Given the description of an element on the screen output the (x, y) to click on. 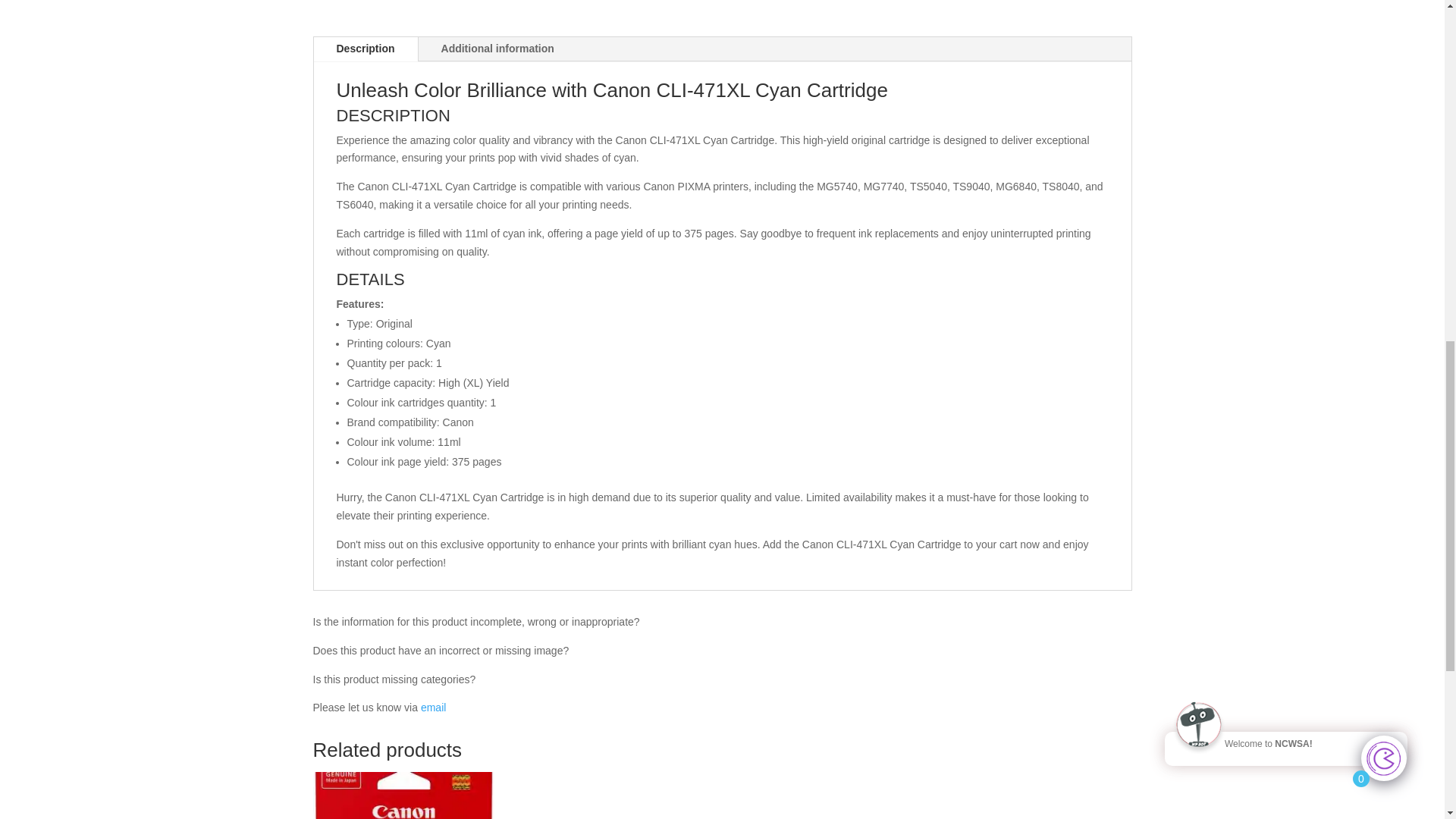
Wrong product details (432, 707)
